Given the description of an element on the screen output the (x, y) to click on. 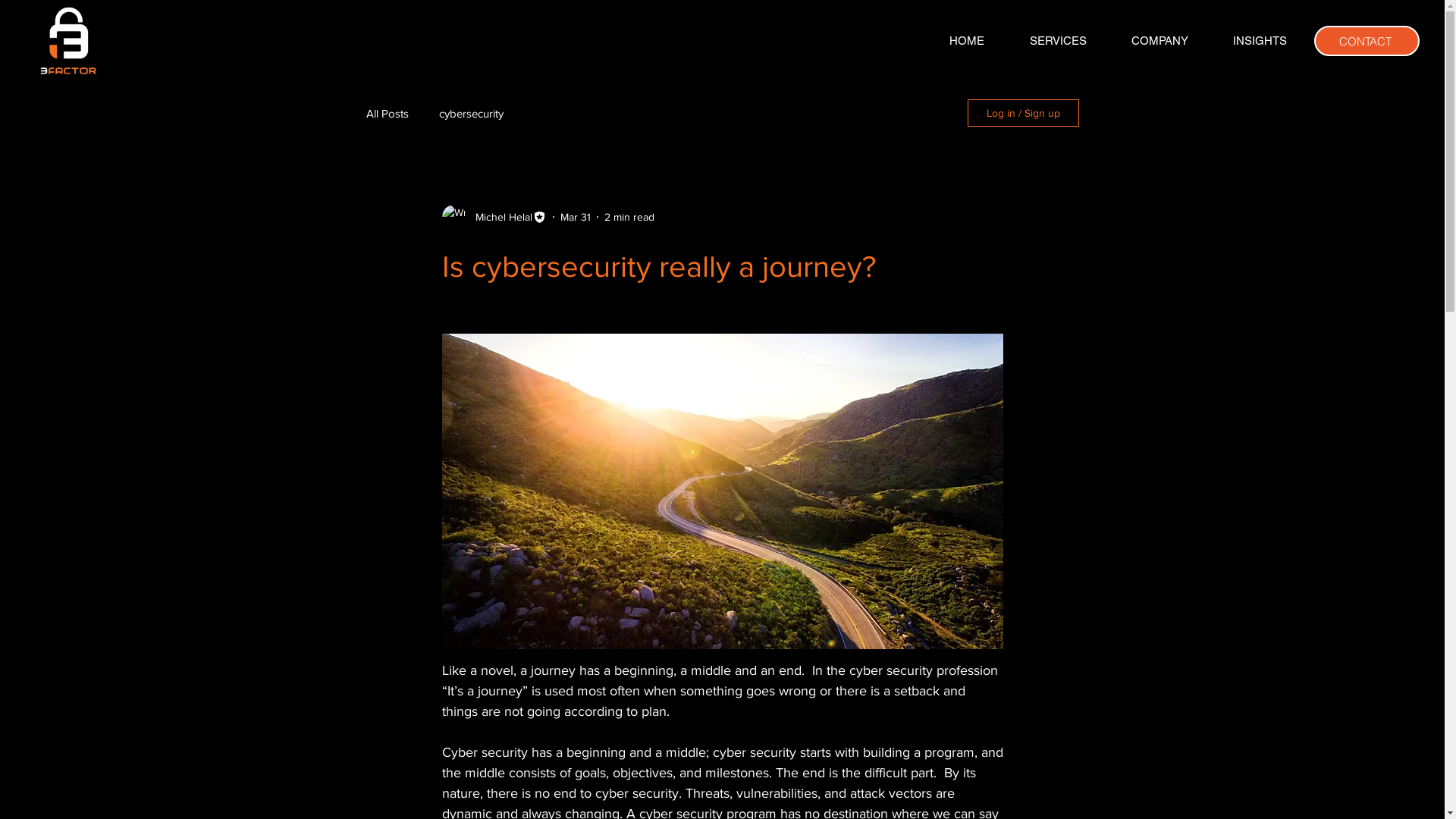
INSIGHTS Element type: text (1259, 40)
3FACTOR  Element type: hover (67, 39)
Log in / Sign up Element type: text (1023, 112)
CONTACT Element type: text (1366, 40)
COMPANY Element type: text (1159, 40)
cybersecurity Element type: text (470, 112)
HOME Element type: text (966, 40)
All Posts Element type: text (386, 112)
SERVICES Element type: text (1057, 40)
